Given the description of an element on the screen output the (x, y) to click on. 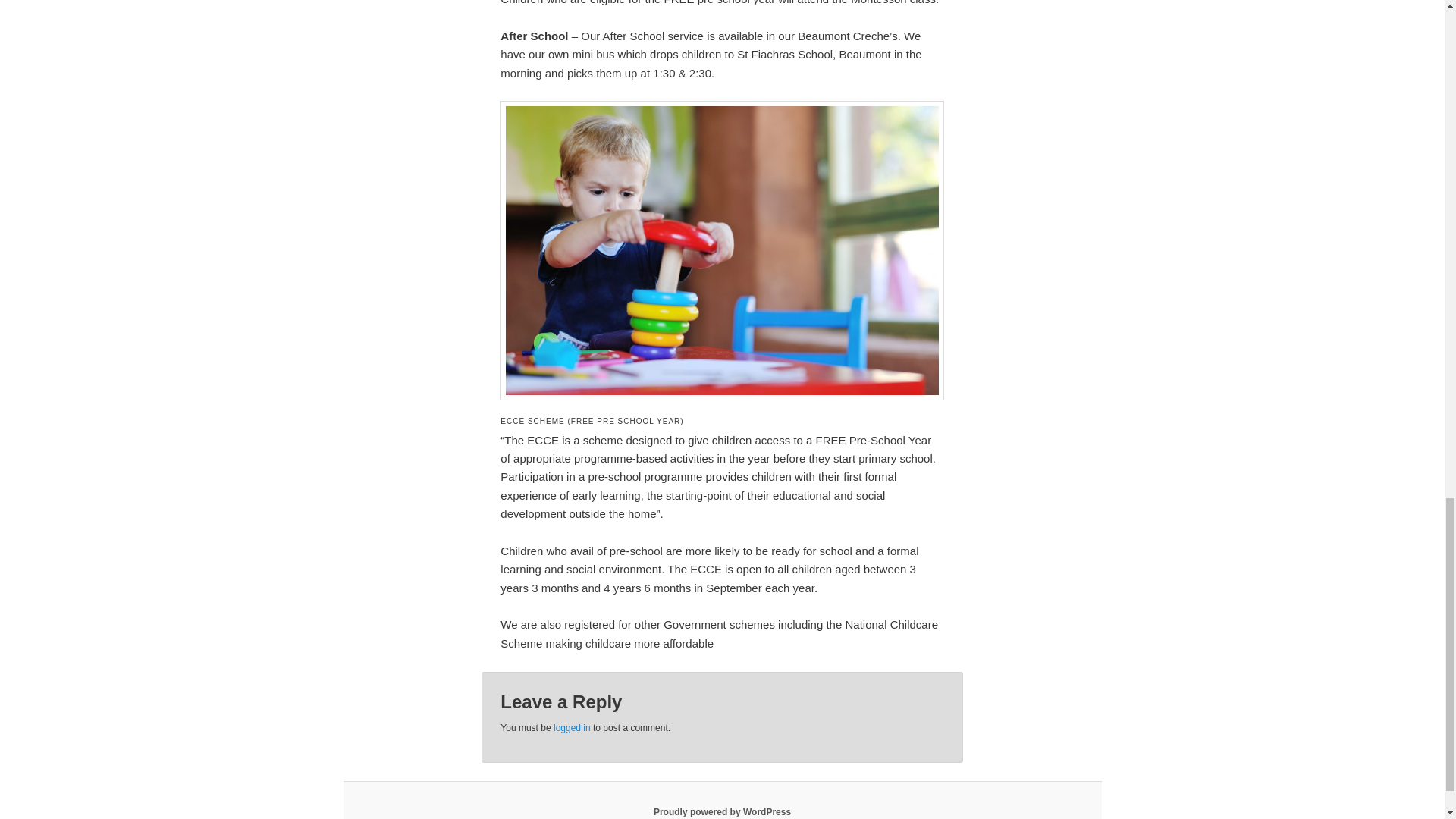
Proudly powered by WordPress (721, 811)
Semantic Personal Publishing Platform (721, 811)
logged in (572, 727)
